Given the description of an element on the screen output the (x, y) to click on. 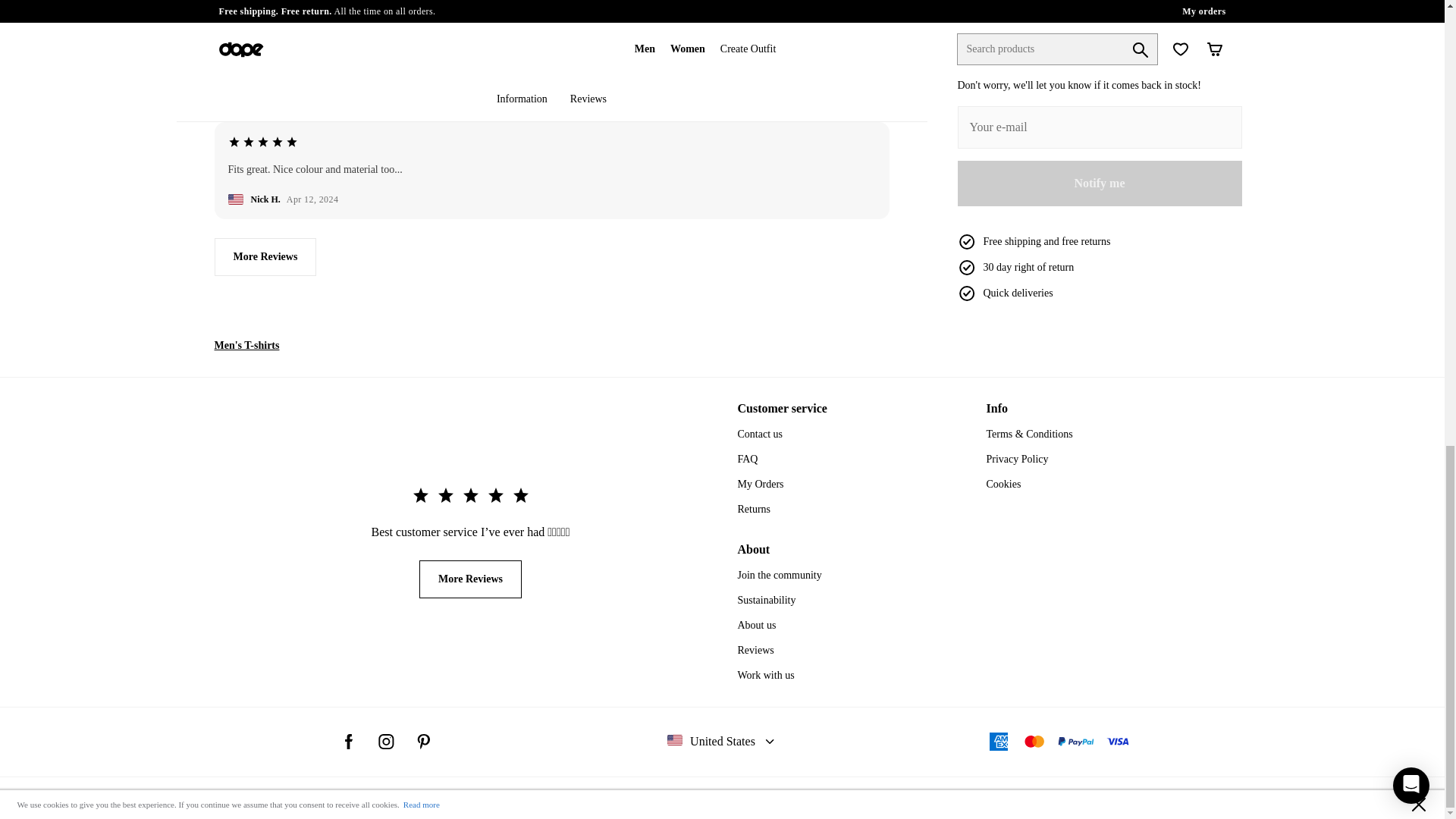
Contact us (759, 433)
More Reviews (470, 579)
5 stars (262, 32)
More Reviews (264, 257)
Men's T-shirts (246, 344)
